Given the description of an element on the screen output the (x, y) to click on. 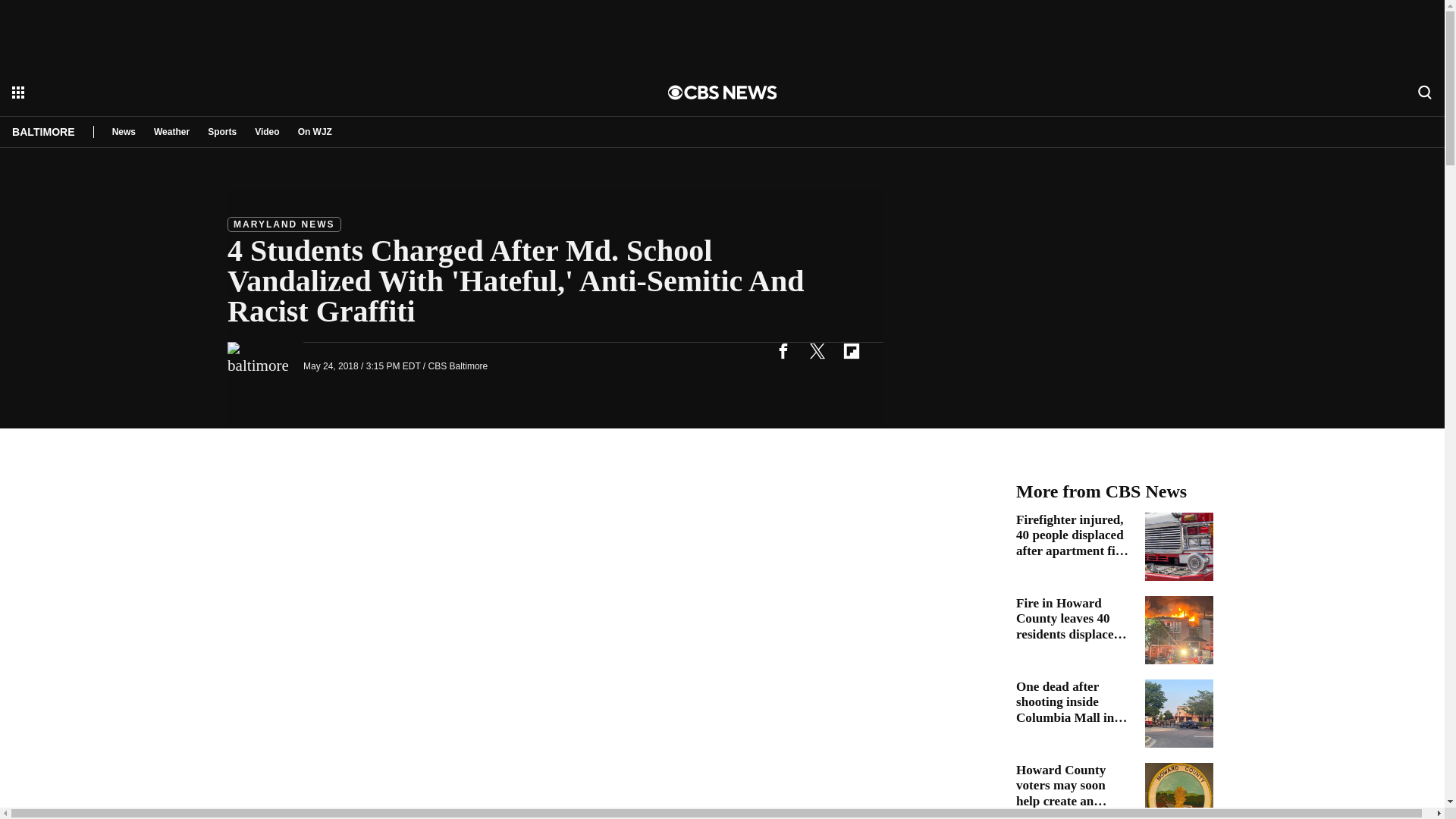
facebook (782, 350)
flipboard (850, 350)
twitter (816, 350)
